Given the description of an element on the screen output the (x, y) to click on. 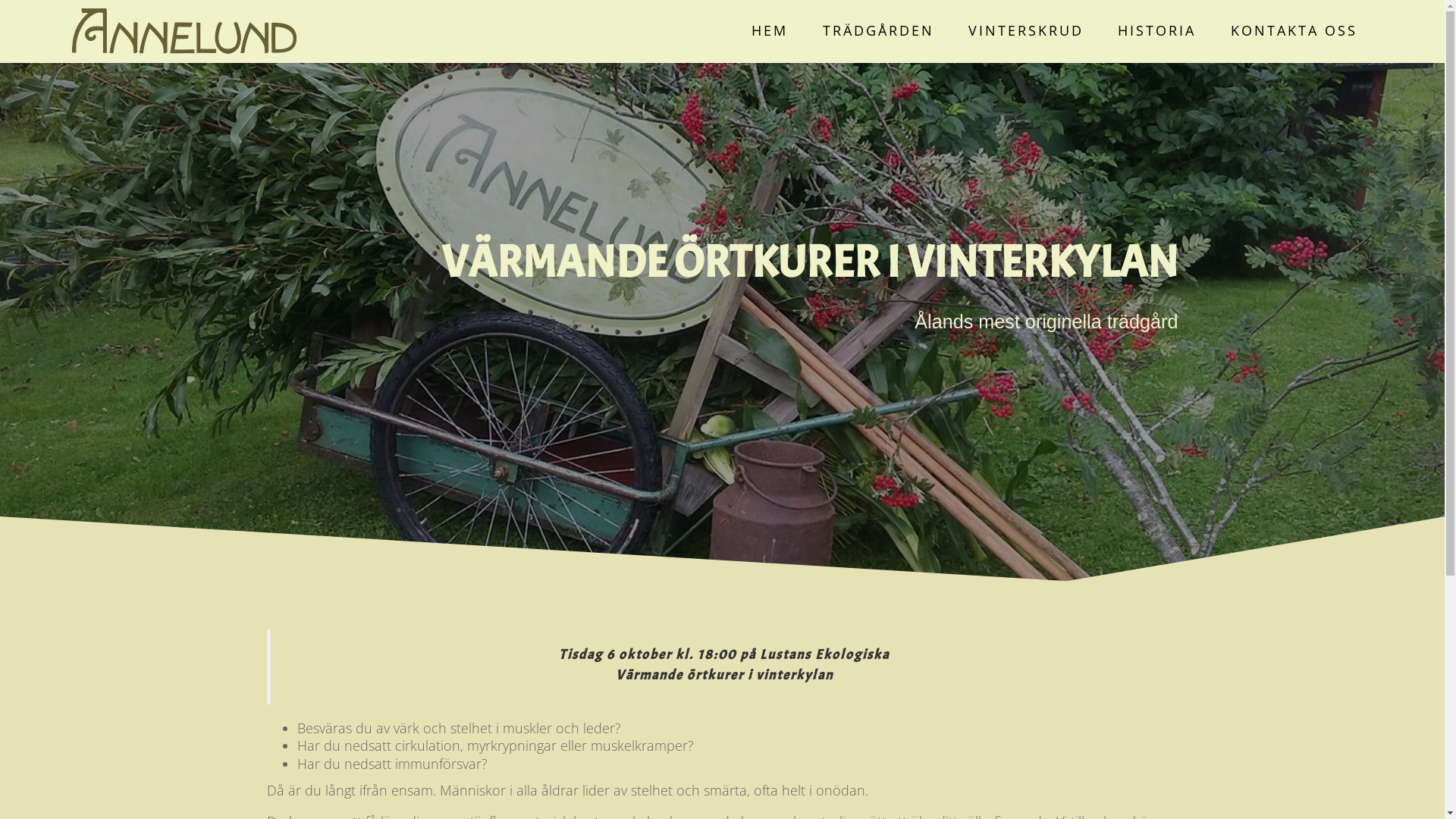
HEM Element type: text (769, 31)
HISTORIA Element type: text (1156, 31)
KONTAKTA OSS Element type: text (1293, 31)
VINTERSKRUD Element type: text (1025, 31)
